Given the description of an element on the screen output the (x, y) to click on. 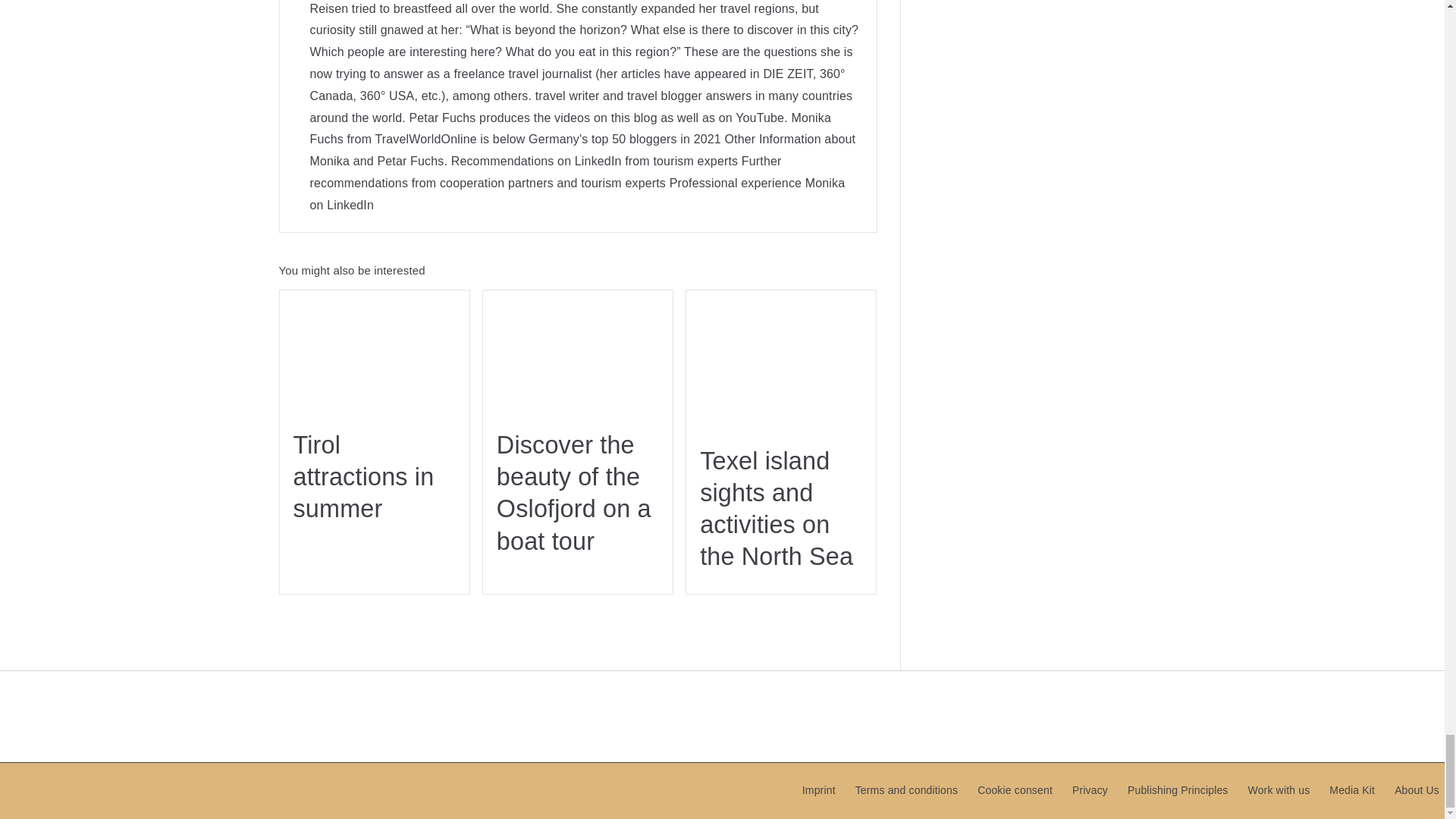
Media Kit (1351, 790)
